Given the description of an element on the screen output the (x, y) to click on. 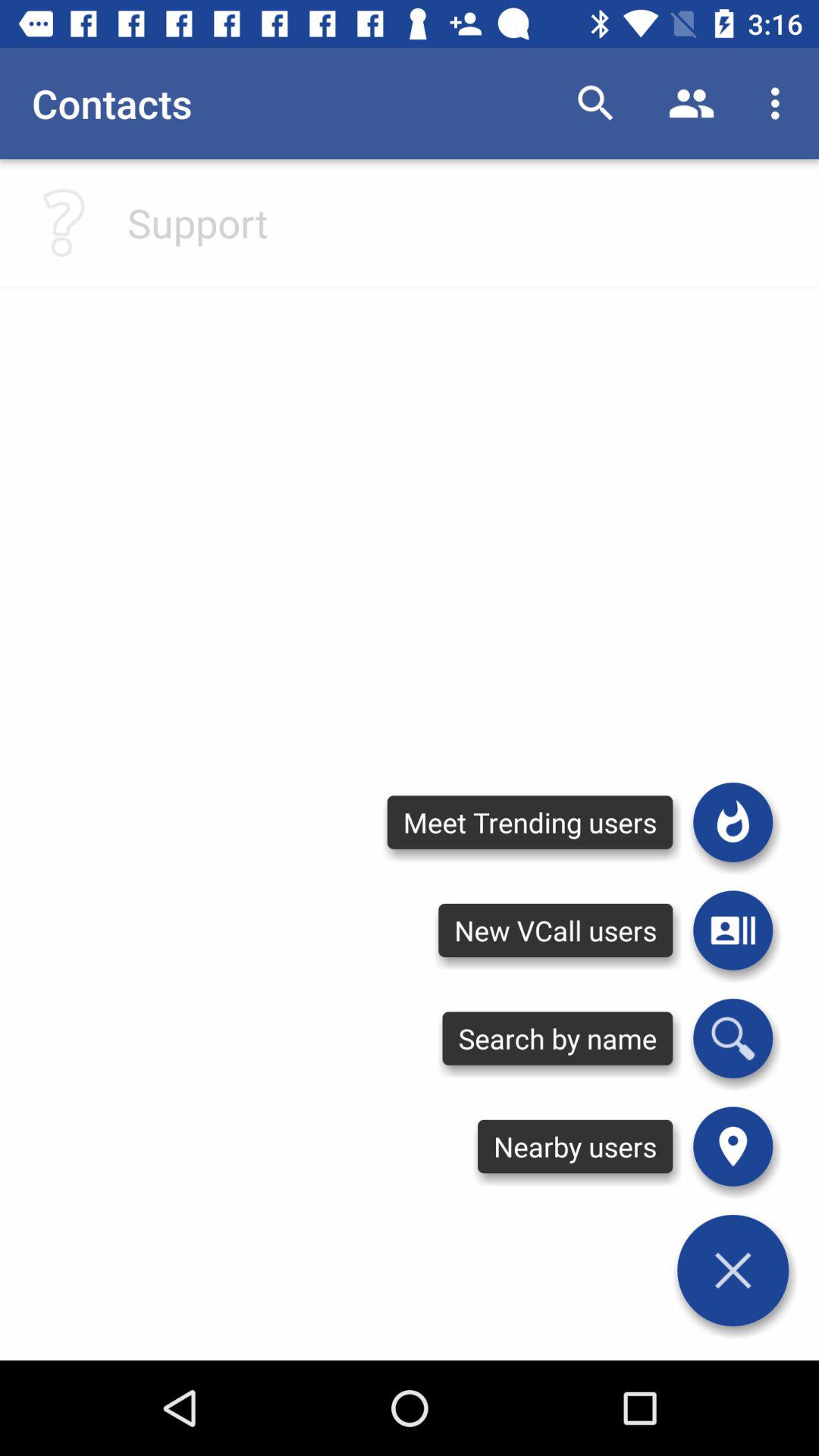
launch icon to the right of meet trending users item (733, 822)
